Given the description of an element on the screen output the (x, y) to click on. 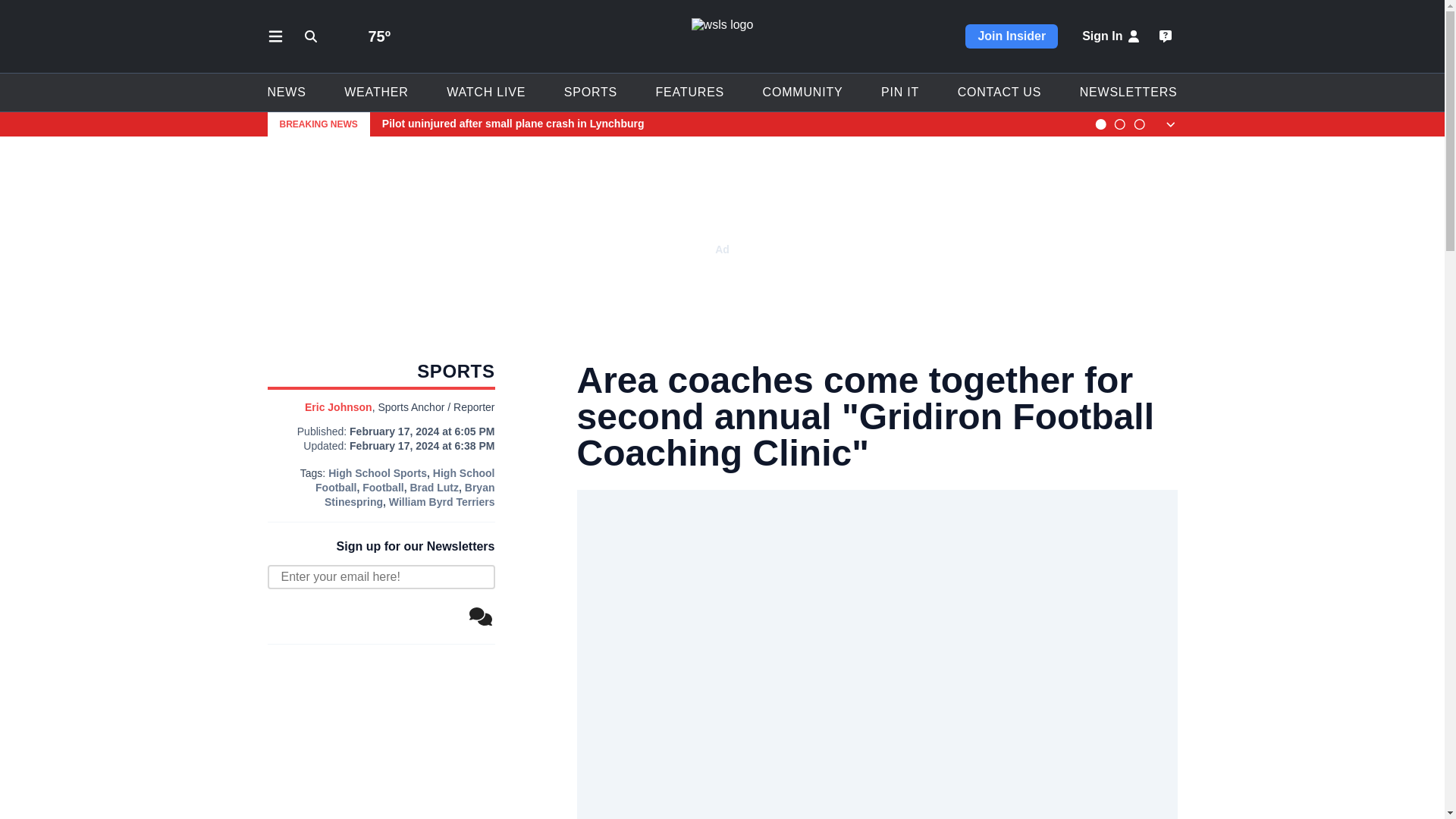
Pilot uninjured after small plane crash in Lynchburg (731, 124)
Join Insider (1011, 36)
Sign In (1111, 36)
